Given the description of an element on the screen output the (x, y) to click on. 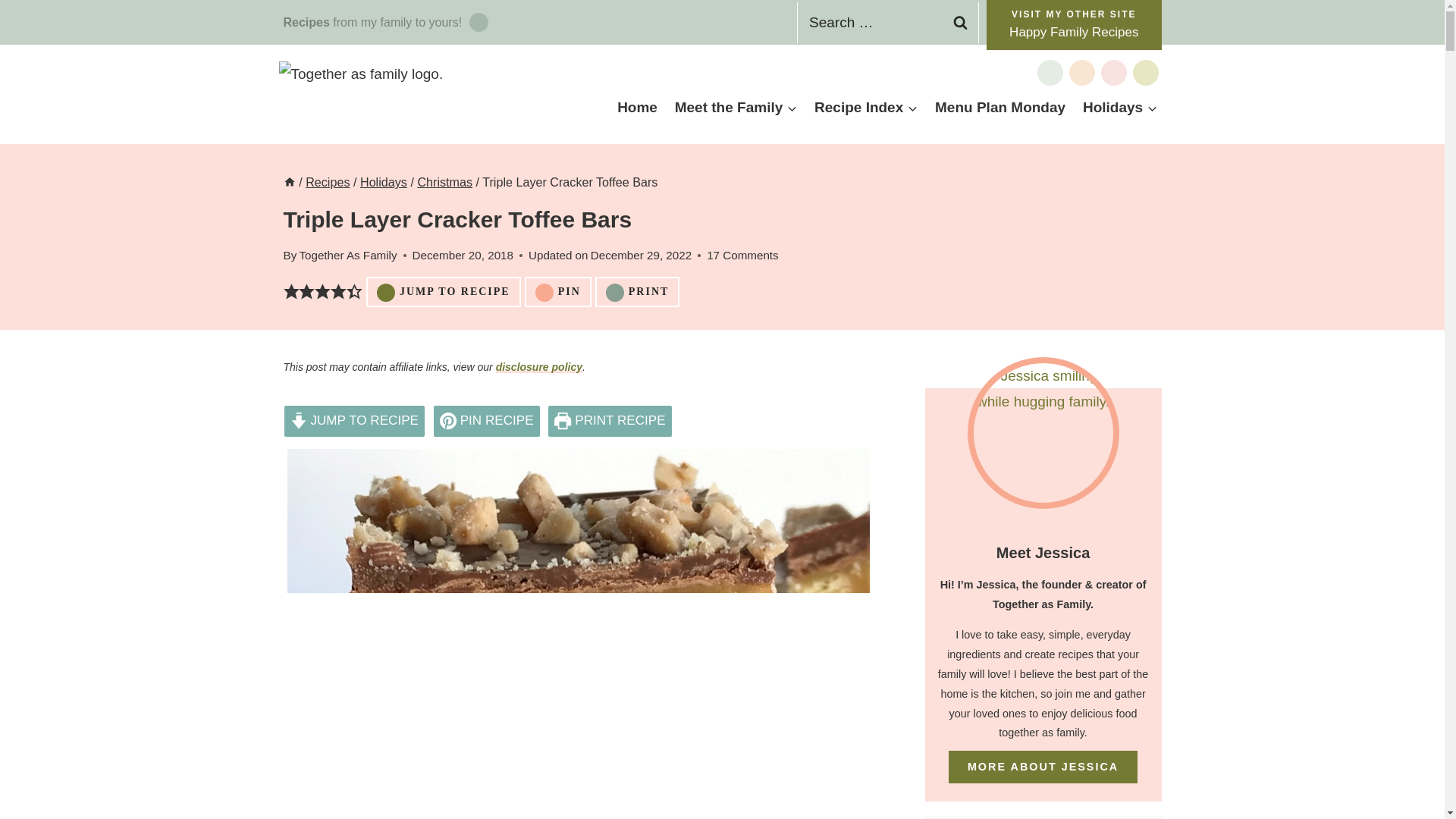
Home (637, 106)
Search (959, 22)
Happy Family Recipes (1073, 24)
Meet the Family (735, 106)
Recipes from my family to yours! (385, 22)
Search (959, 22)
Recipe Index (866, 106)
17 Comments (742, 254)
Home (289, 182)
JUMP TO RECIPE (354, 420)
Search (959, 22)
JUMP TO RECIPE (443, 291)
